Given the description of an element on the screen output the (x, y) to click on. 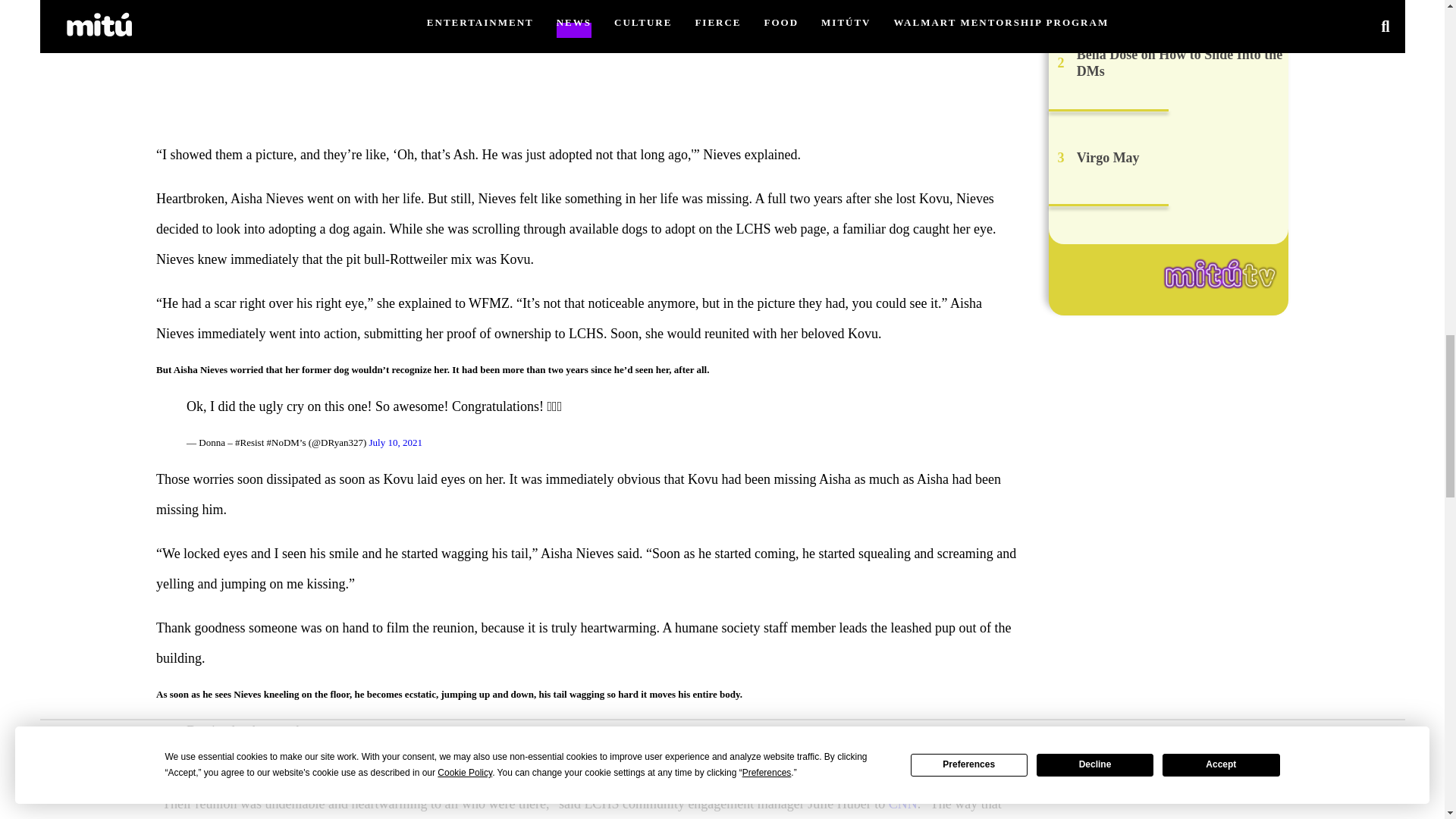
Watch: Reunited with her lost dog after 2 years (586, 63)
July 10, 2021 (355, 767)
July 10, 2021 (395, 441)
Bella Dose on How to Slide Into the DMs (1180, 62)
Virgo May (1108, 157)
CNN (902, 803)
